Given the description of an element on the screen output the (x, y) to click on. 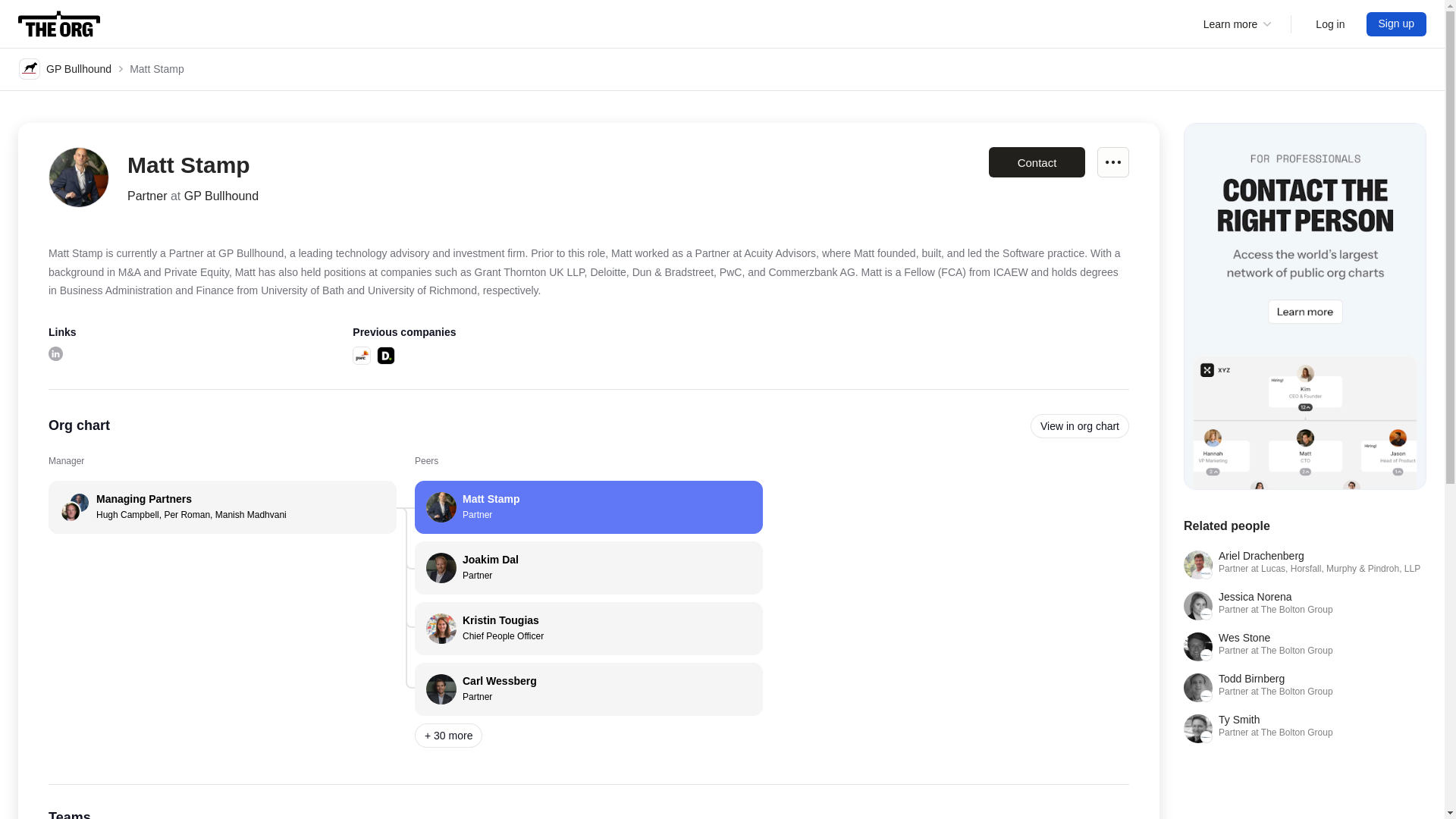
PwC (1304, 687)
Log in to The Org (361, 354)
Sign up to The Org (1329, 24)
GP Bullhound (1396, 24)
Contact (65, 68)
Deloitte (588, 506)
Join, edit and report menu (588, 628)
Learn more (1036, 162)
